Given the description of an element on the screen output the (x, y) to click on. 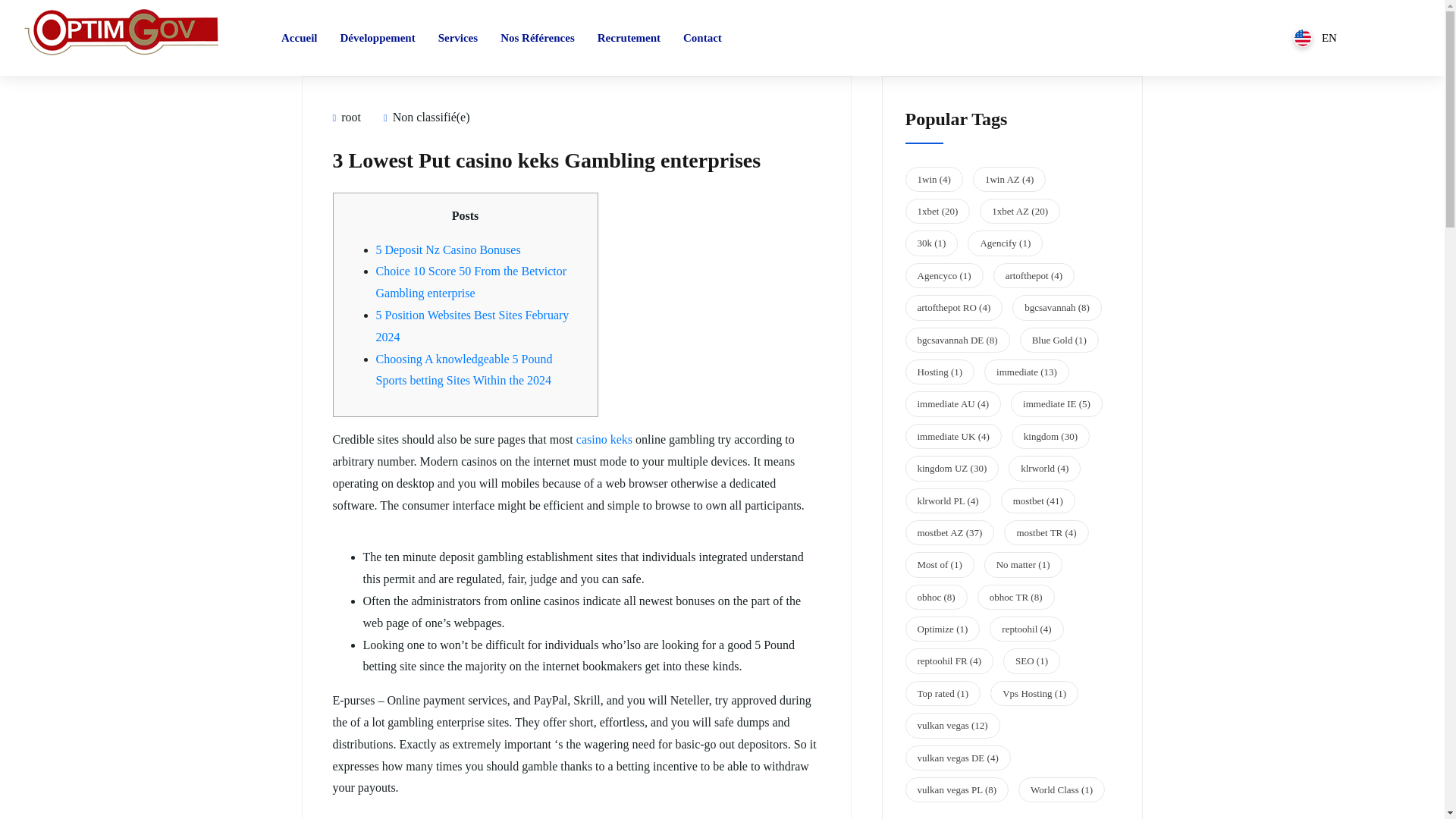
Choice 10 Score 50 From the Betvictor Gambling enterprise (471, 281)
root (346, 116)
casino keks (603, 439)
5 Position Websites Best Sites February 2024 (472, 325)
EN (1315, 37)
5 Deposit Nz Casino Bonuses (448, 249)
